Given the description of an element on the screen output the (x, y) to click on. 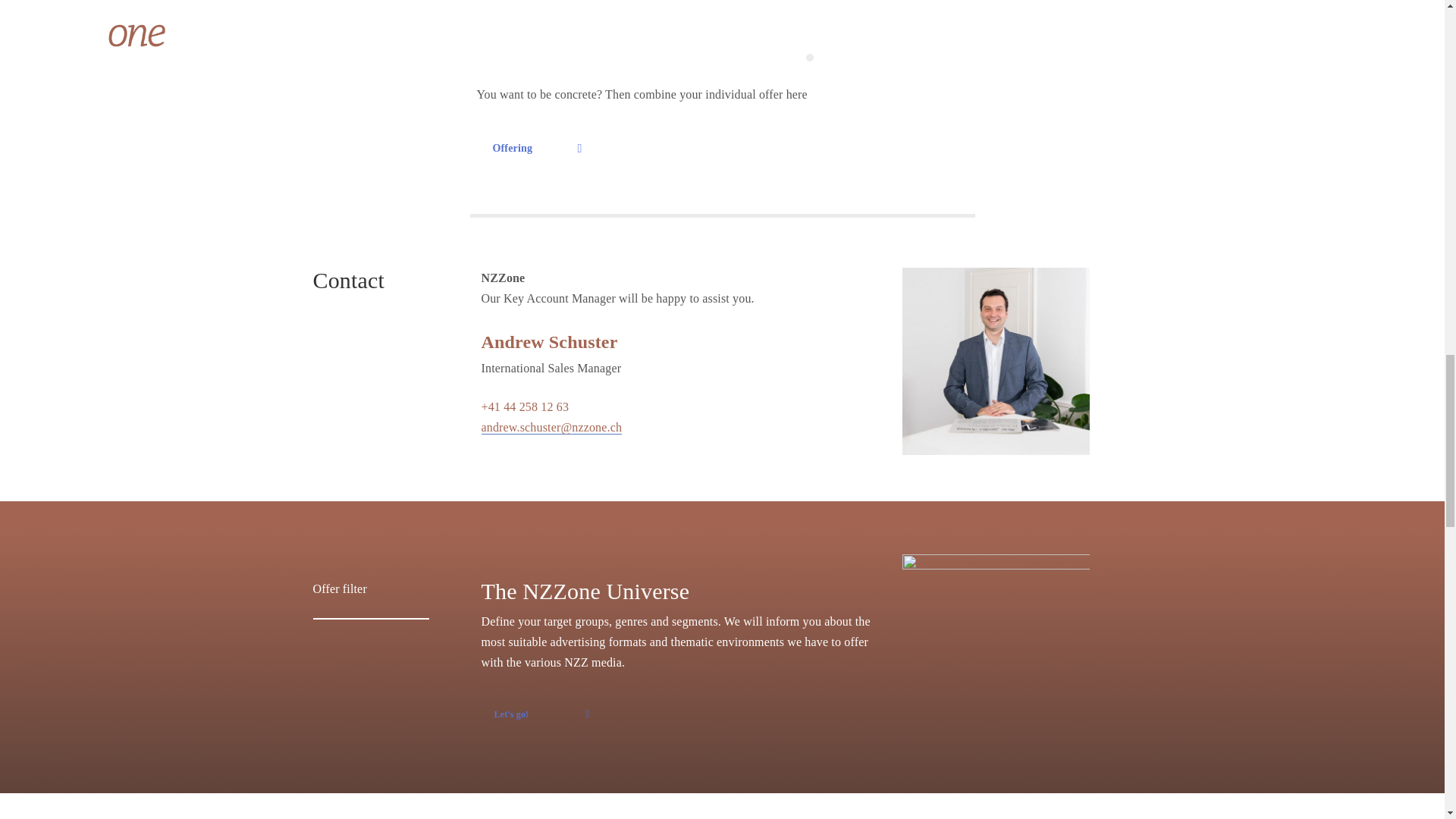
Andrew-Schuster-NZZone (996, 361)
Offering (541, 714)
Offering (536, 148)
